Given the description of an element on the screen output the (x, y) to click on. 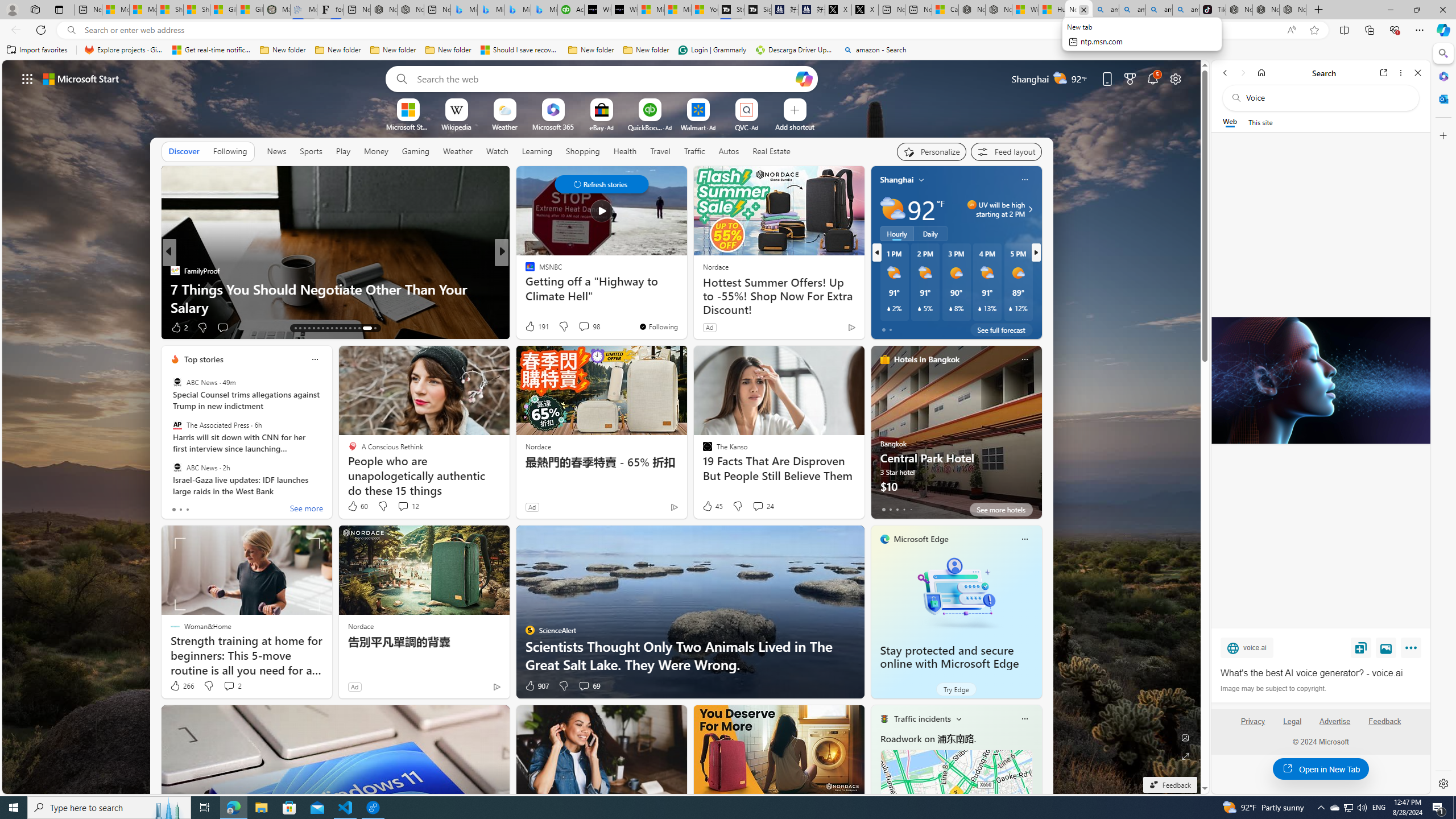
View comments 12 Comment (403, 505)
Notifications (1152, 78)
Central Park Hotel (956, 436)
Edit Background (1185, 737)
UV will be high starting at 2 PM (1028, 208)
Microsoft Edge (921, 538)
AutomationID: tab-18 (317, 328)
My location (921, 179)
Stay protected and secure online with Microsoft Edge (955, 592)
Save (1361, 647)
Enter your search term (603, 78)
